Given the description of an element on the screen output the (x, y) to click on. 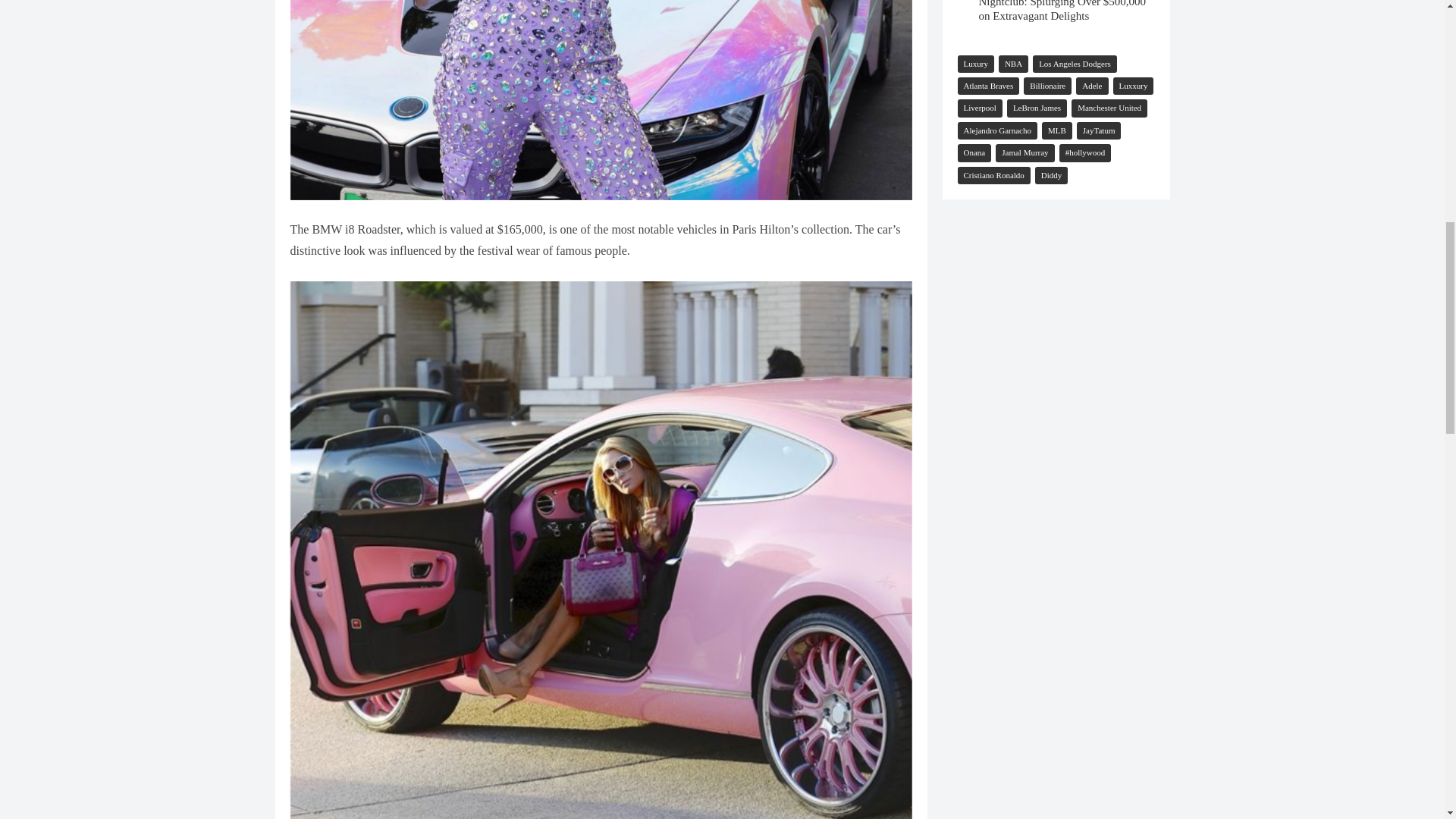
Liverpool (978, 108)
Billionaire (1047, 85)
LeBron James (1037, 108)
Los Angeles Dodgers (1074, 63)
Luxxury (1133, 85)
Adele (1091, 85)
Luxury (974, 63)
NBA (1012, 63)
Atlanta Braves (987, 85)
